Given the description of an element on the screen output the (x, y) to click on. 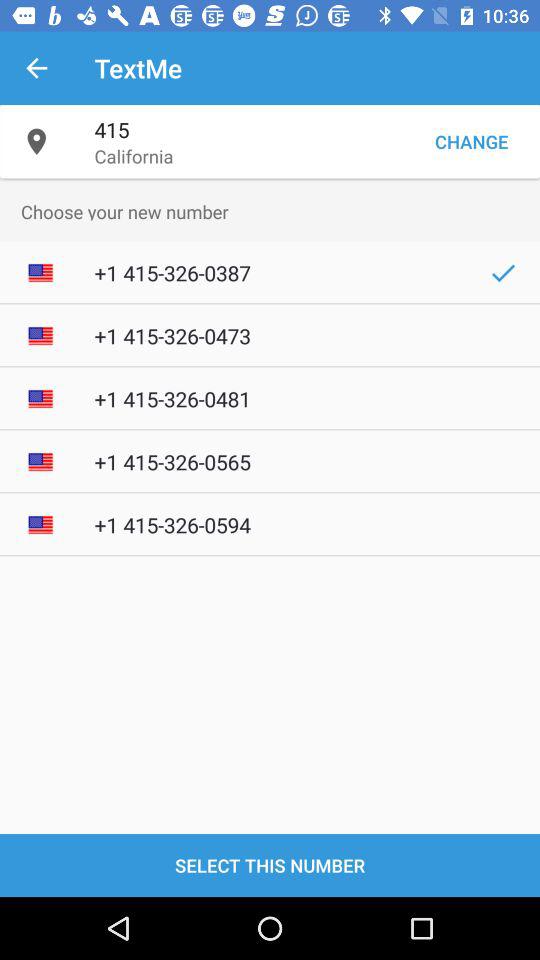
turn on change item (471, 141)
